Given the description of an element on the screen output the (x, y) to click on. 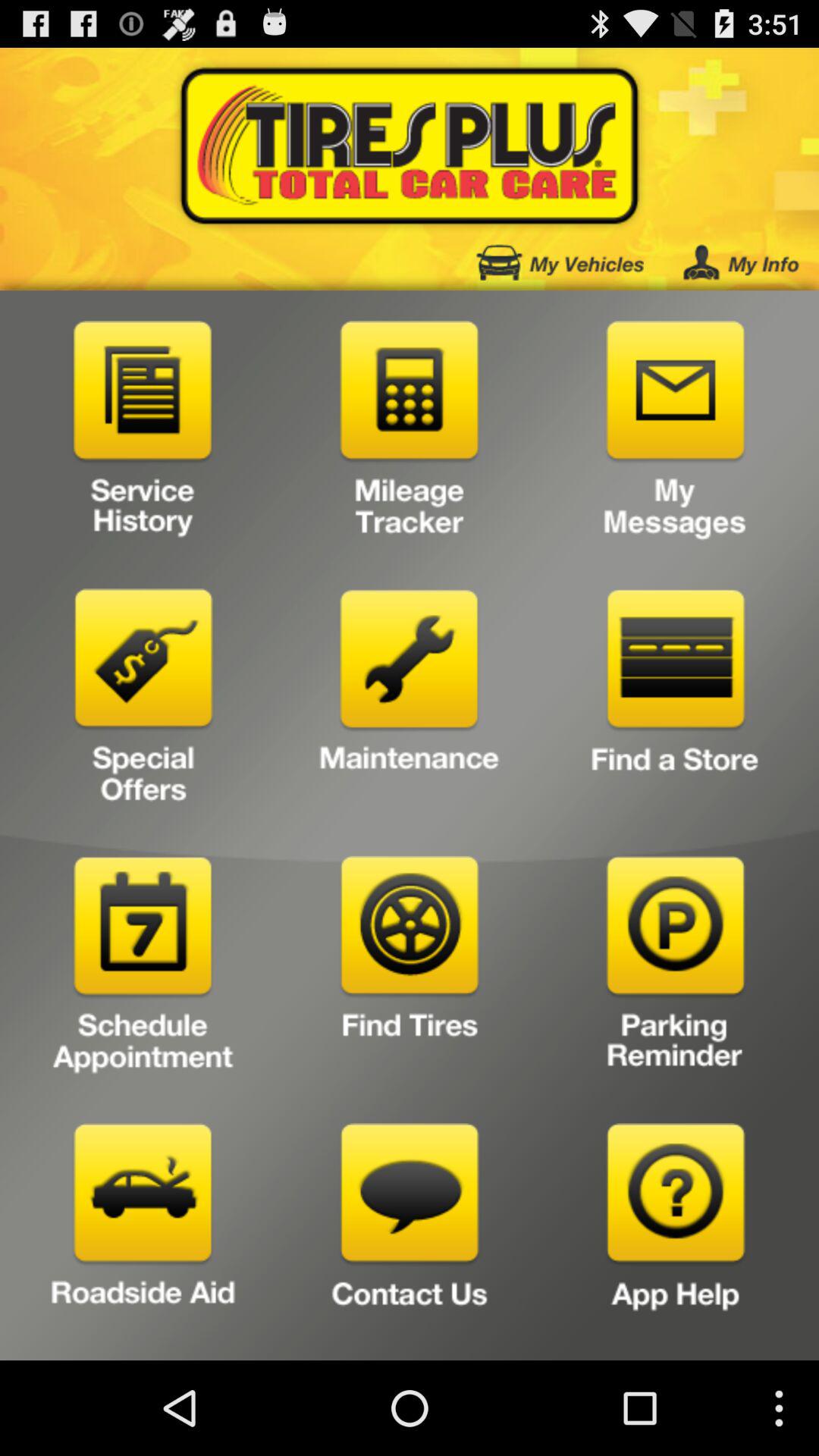
parking reminder (675, 968)
